Given the description of an element on the screen output the (x, y) to click on. 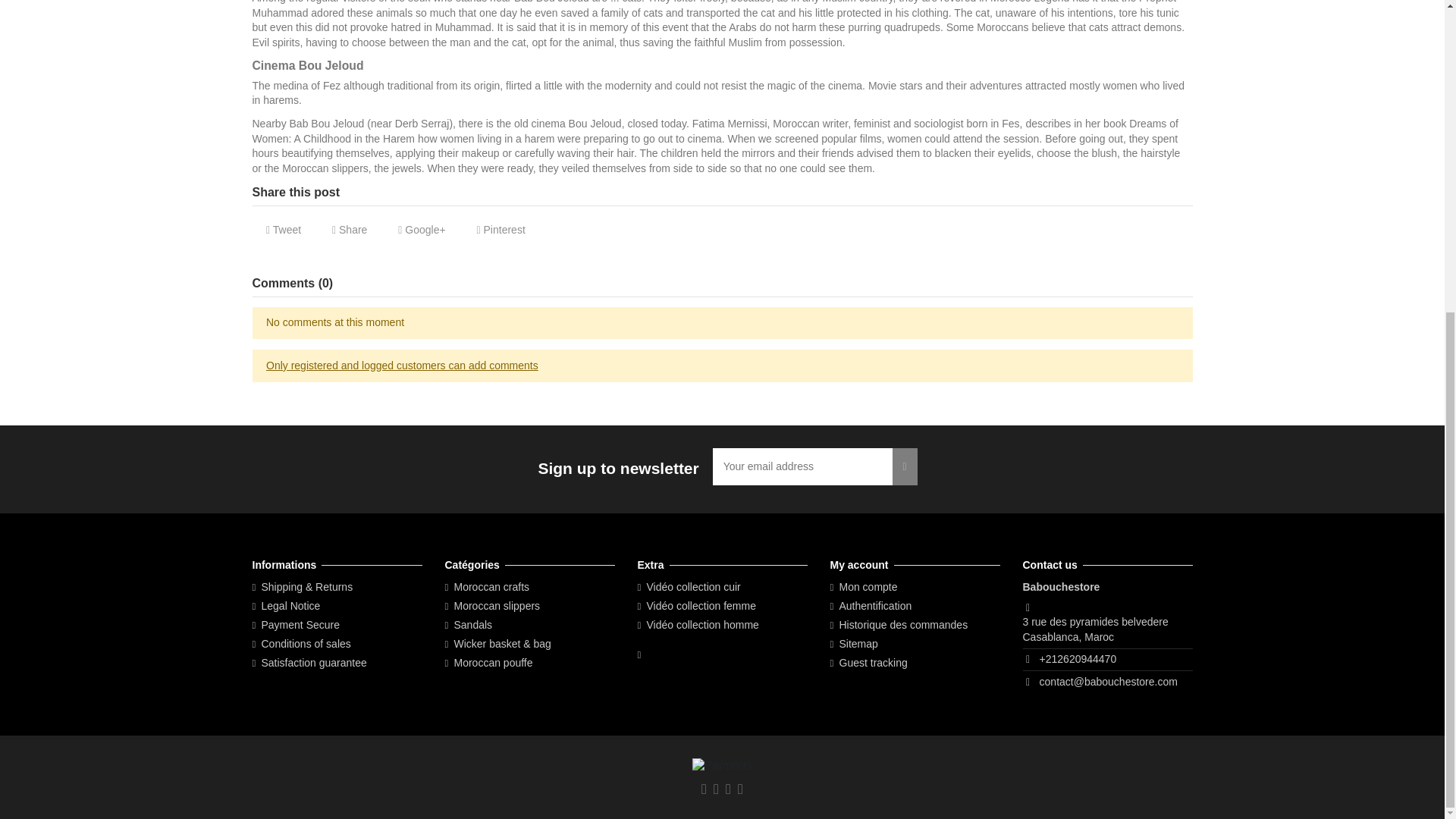
Learn more about Babouche Store and artisans  (308, 663)
Payment Secure  (295, 625)
Legal Notice (285, 606)
Our conditions of sales  (300, 644)
